Given the description of an element on the screen output the (x, y) to click on. 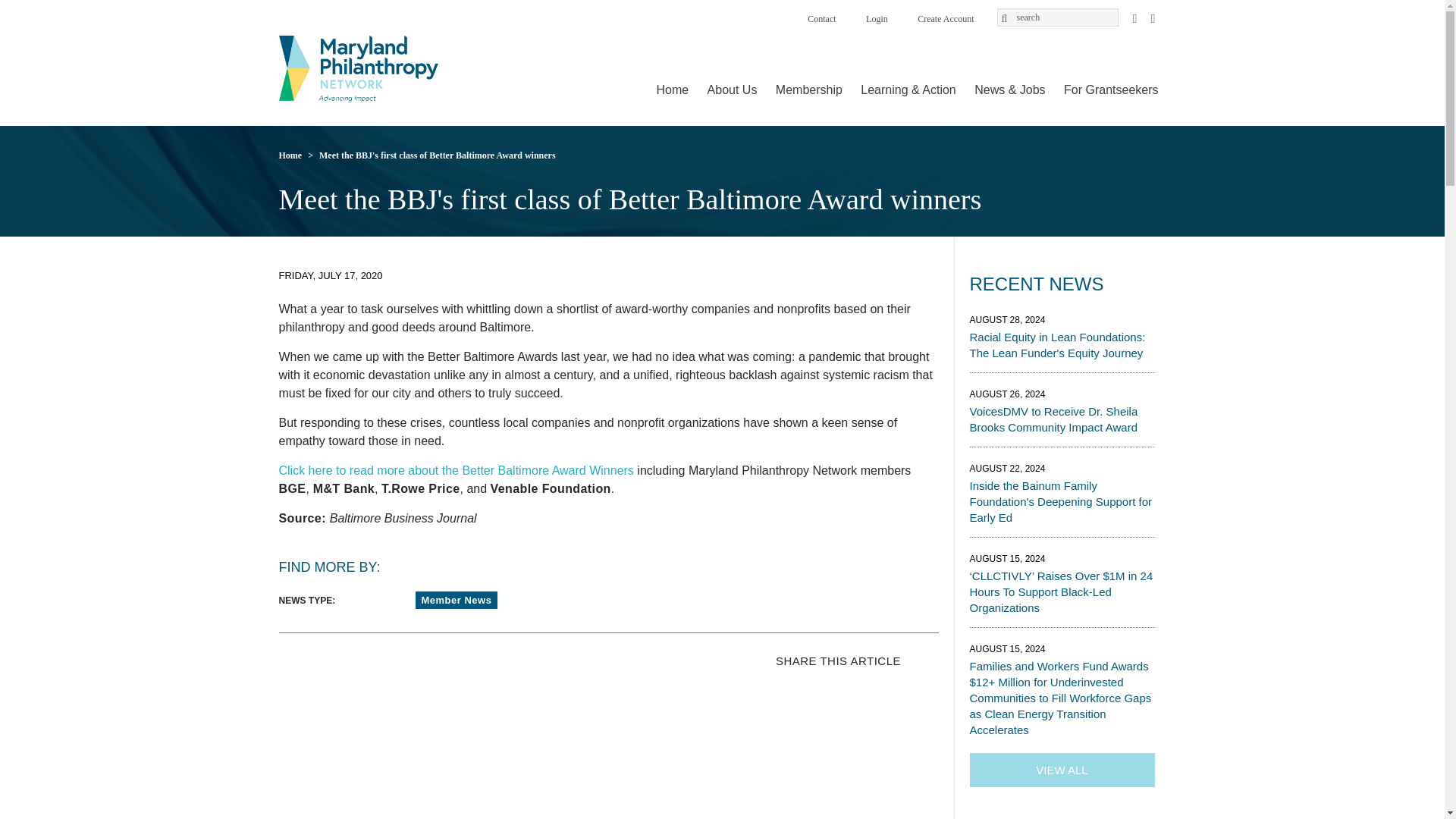
search (1056, 17)
Follow Maryland Philanthropy Network on Facebook (1133, 16)
Enter the terms you wish to search for. (1056, 17)
Follow Maryland Philanthropy Network on LinkedIn (1151, 16)
GO (1005, 22)
